Given the description of an element on the screen output the (x, y) to click on. 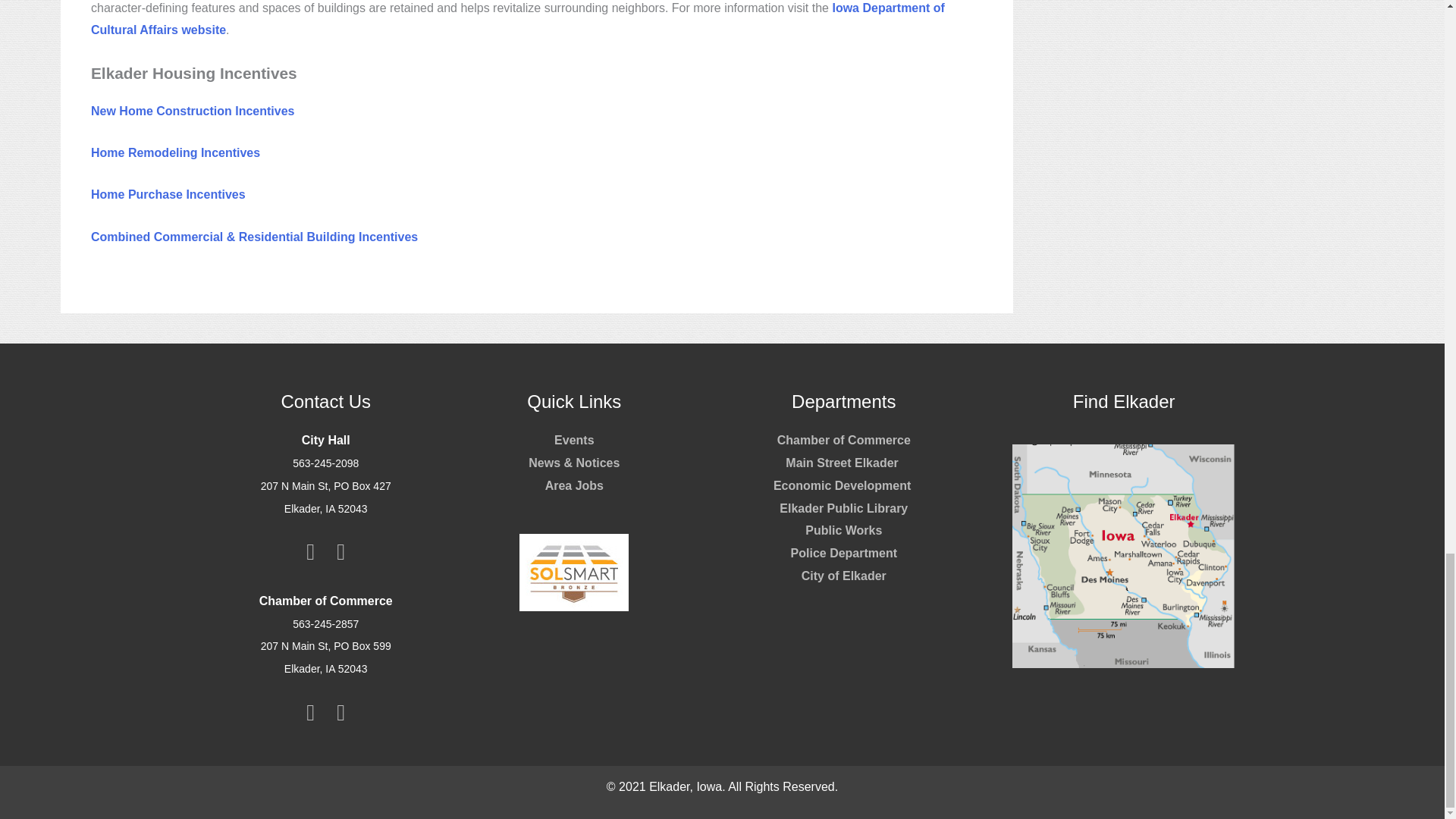
regional-map (1123, 556)
